Given the description of an element on the screen output the (x, y) to click on. 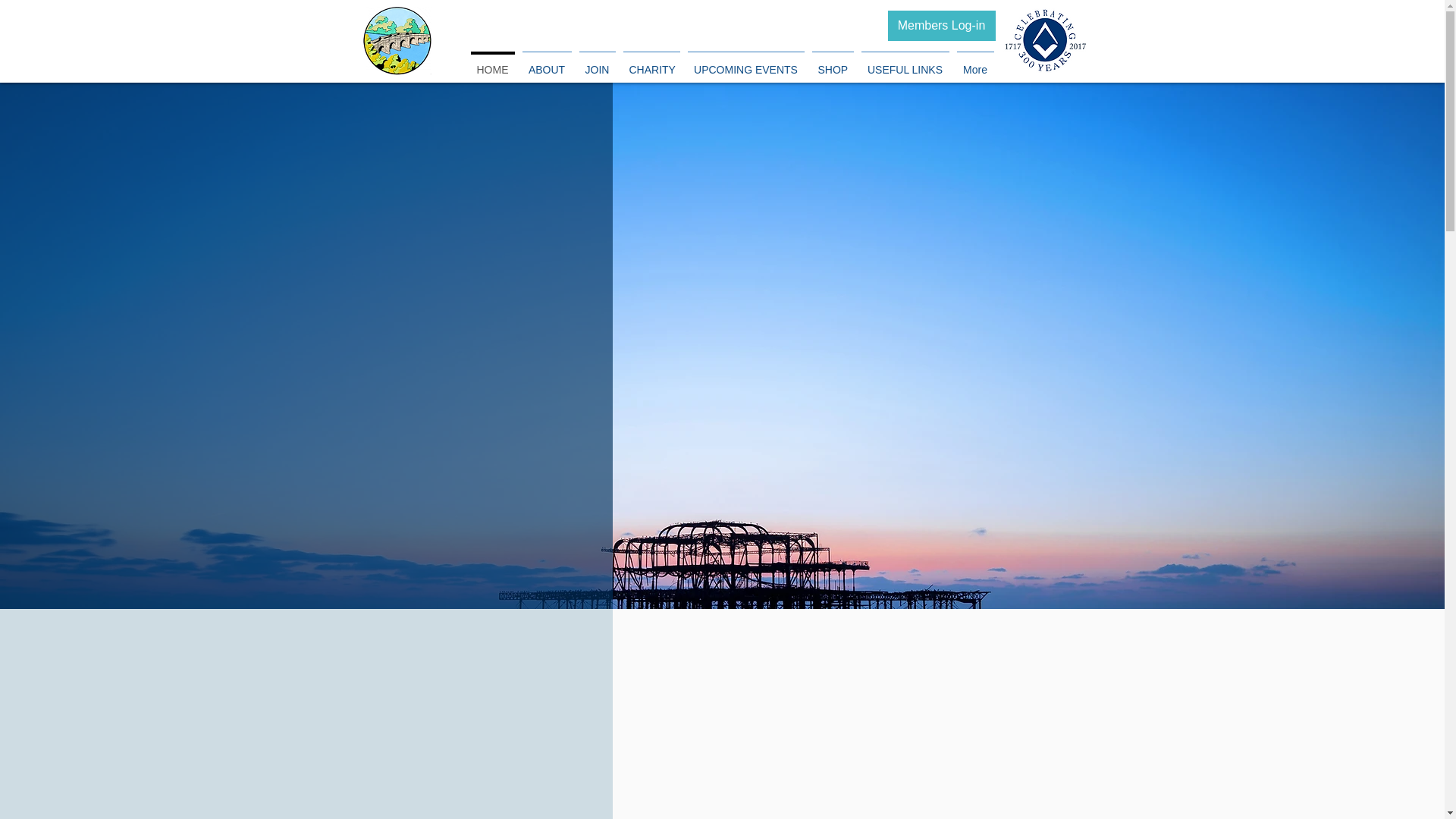
Members Log-in (940, 25)
UPCOMING EVENTS (746, 62)
USEFUL LINKS (904, 62)
JOIN (596, 62)
CHARITY (650, 62)
ABOUT (546, 62)
HOME (492, 62)
SHOP (832, 62)
